Given the description of an element on the screen output the (x, y) to click on. 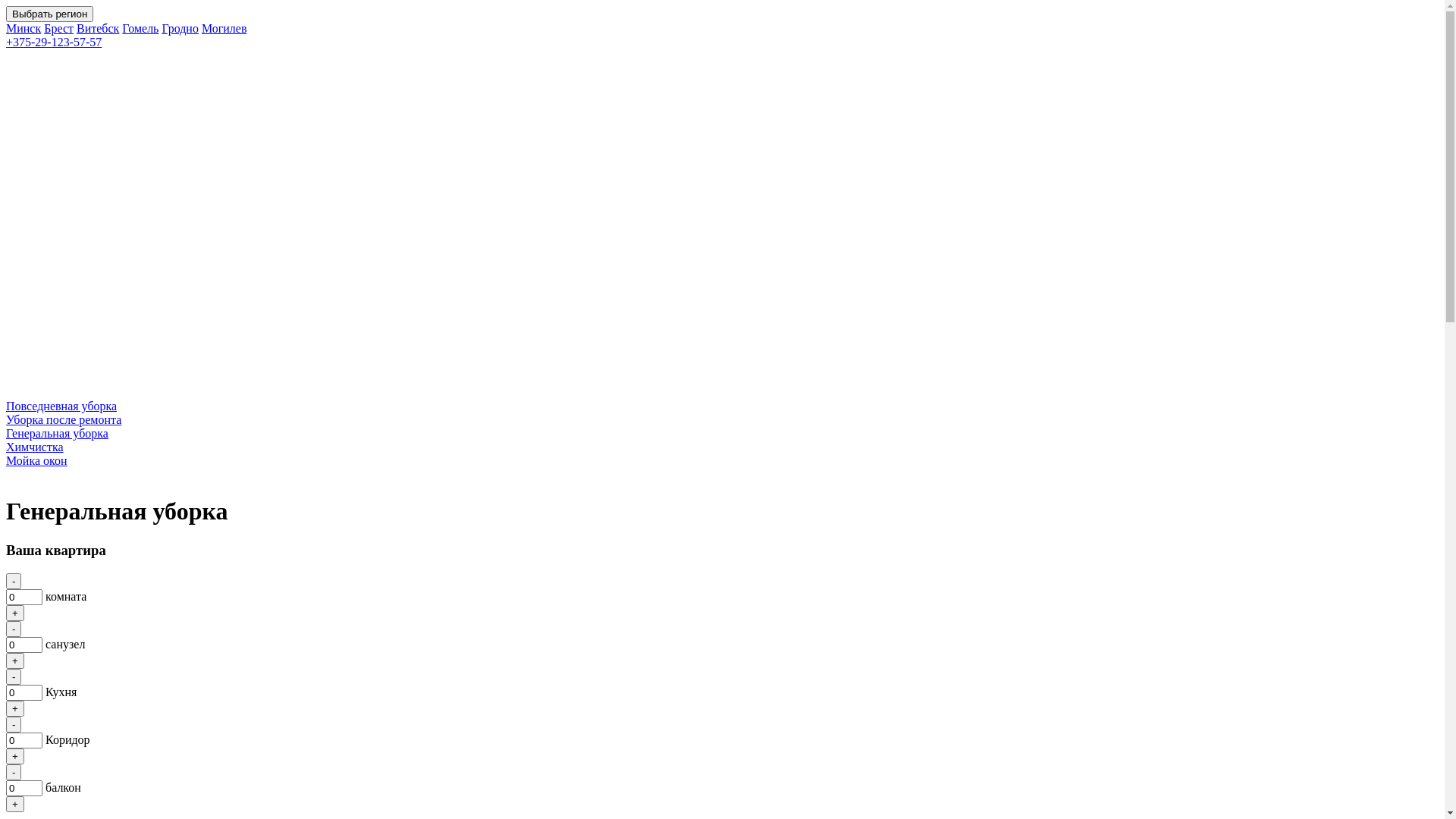
- Element type: text (13, 676)
- Element type: text (13, 581)
+ Element type: text (15, 660)
+ Element type: text (15, 613)
+ Element type: text (15, 756)
- Element type: text (13, 629)
- Element type: text (13, 724)
+375-29-123-57-57 Element type: text (722, 100)
+ Element type: text (15, 708)
+ Element type: text (15, 804)
- Element type: text (13, 772)
